Given the description of an element on the screen output the (x, y) to click on. 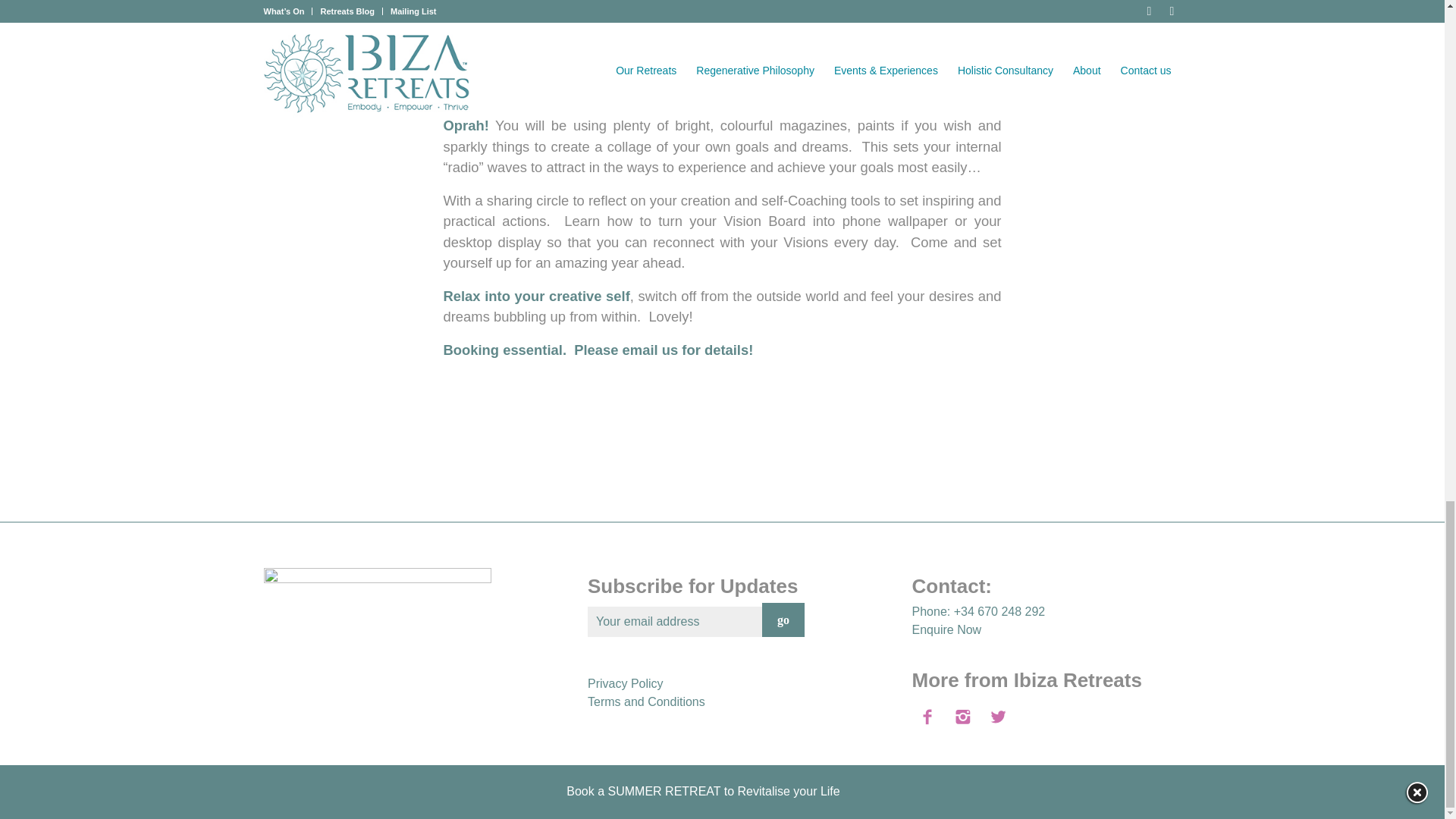
Facebook (1146, 796)
Terms and Conditions (646, 701)
Enquire Now (946, 629)
Instagram (1169, 796)
go (783, 619)
Privacy Policy (625, 683)
go (783, 619)
